Given the description of an element on the screen output the (x, y) to click on. 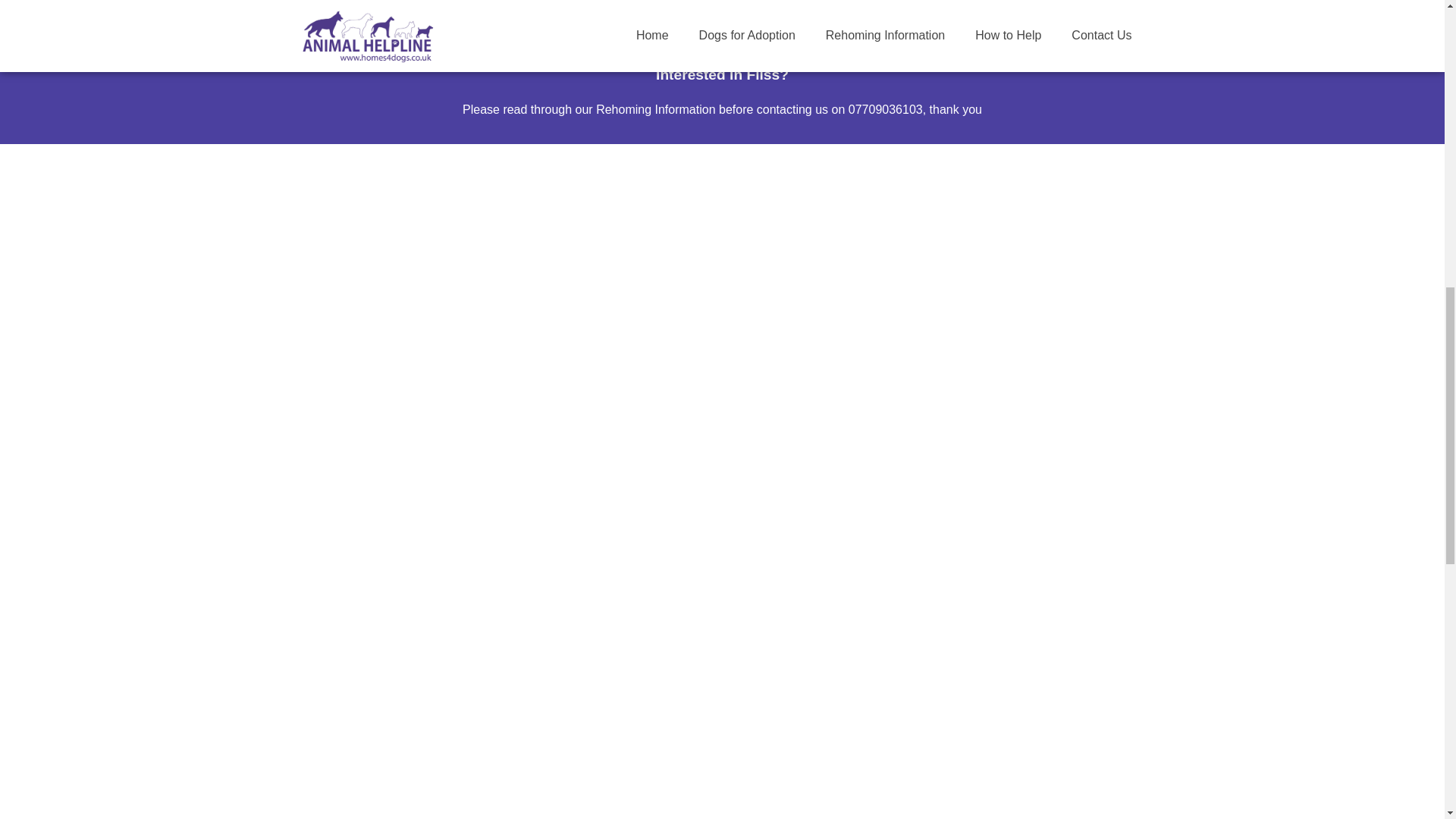
Rehoming Information (654, 109)
07709036103 (885, 109)
